Given the description of an element on the screen output the (x, y) to click on. 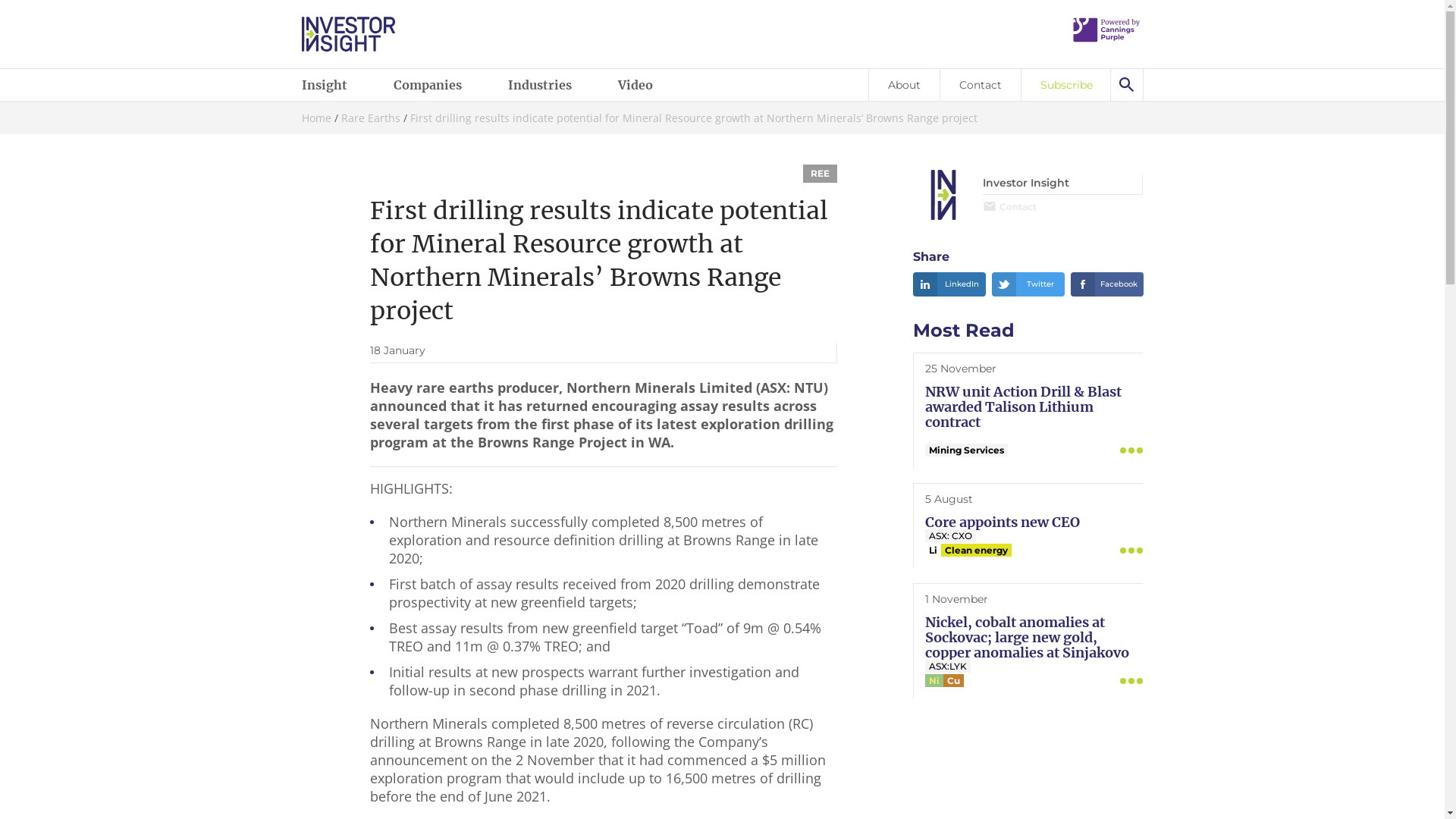
Li Element type: text (933, 549)
Facebook Element type: text (1106, 284)
Cu Element type: text (953, 680)
Industries Element type: text (549, 84)
Companies Element type: text (436, 84)
ASX:LYK Element type: text (947, 665)
LinkedIn Element type: text (949, 284)
About Element type: text (902, 84)
Clean energy Element type: text (976, 549)
Ni Element type: text (934, 680)
Core appoints new CEO Element type: text (1002, 521)
Subscribe Element type: text (1065, 84)
Contact Element type: text (1009, 206)
Insight Element type: text (333, 84)
Twitter Element type: text (1027, 284)
REE Element type: text (820, 173)
Mining Services Element type: text (966, 449)
ASX: CXO Element type: text (950, 535)
Rare Earths Element type: text (370, 117)
Contact Element type: text (978, 84)
Video Element type: text (644, 84)
Home Element type: text (316, 117)
